Given the description of an element on the screen output the (x, y) to click on. 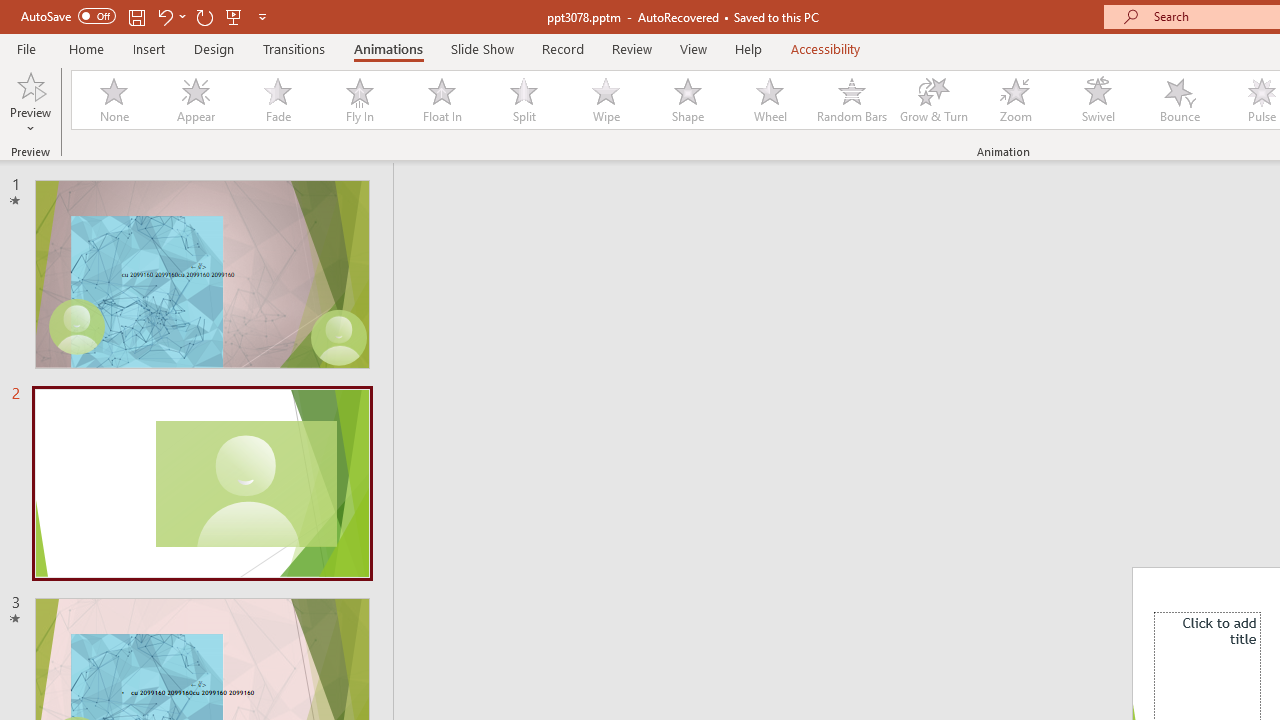
Bounce (1180, 100)
